Given the description of an element on the screen output the (x, y) to click on. 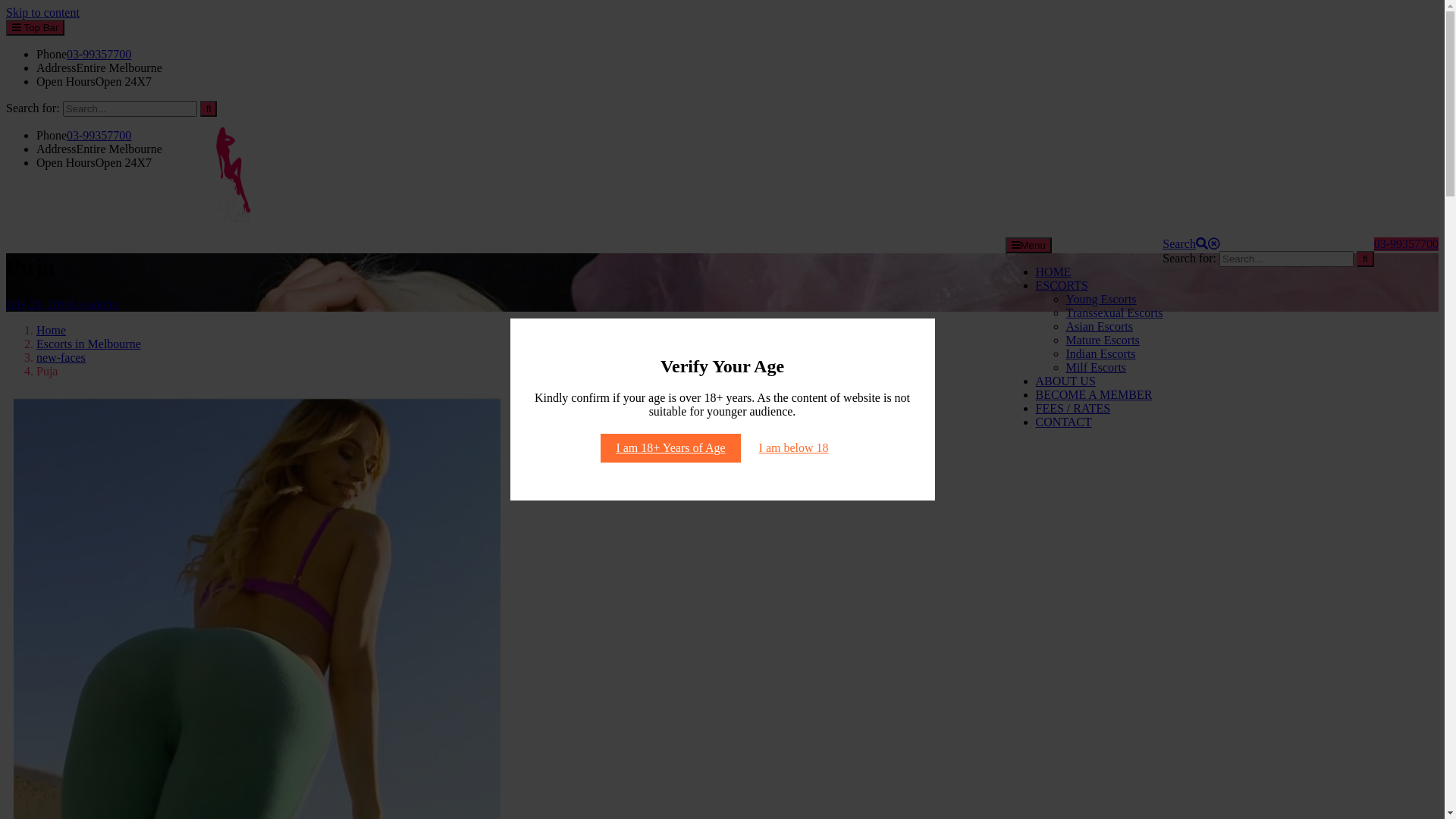
Skip to content Element type: text (42, 12)
Transsexual Escorts Element type: text (1114, 312)
I am 18+ Years of Age Element type: text (670, 447)
July 21, 2016 Element type: text (39, 304)
Mature Escorts Element type: text (1102, 339)
Milf Escorts Element type: text (1096, 366)
ESCORTS Element type: text (1061, 285)
Young Escorts Element type: text (1101, 298)
Search Element type: text (1191, 243)
FEES / RATES Element type: text (1072, 407)
Escorts in Melbourne Element type: text (88, 343)
HOME Element type: text (1053, 271)
seoadmin Element type: text (95, 304)
03-99357700 Element type: text (98, 53)
new-faces Element type: text (60, 357)
Indian Escorts Element type: text (1100, 353)
I am below 18 Element type: text (793, 447)
03-99357700 Element type: text (98, 134)
BECOME A MEMBER Element type: text (1093, 394)
Escorts Melbourne Now Element type: text (65, 255)
Top Bar Element type: text (35, 27)
CONTACT Element type: text (1063, 421)
Home Element type: text (50, 329)
ABOUT US Element type: text (1065, 380)
Asian Escorts Element type: text (1099, 326)
03-99357700 Element type: text (1406, 244)
Menu Element type: text (1028, 245)
